Given the description of an element on the screen output the (x, y) to click on. 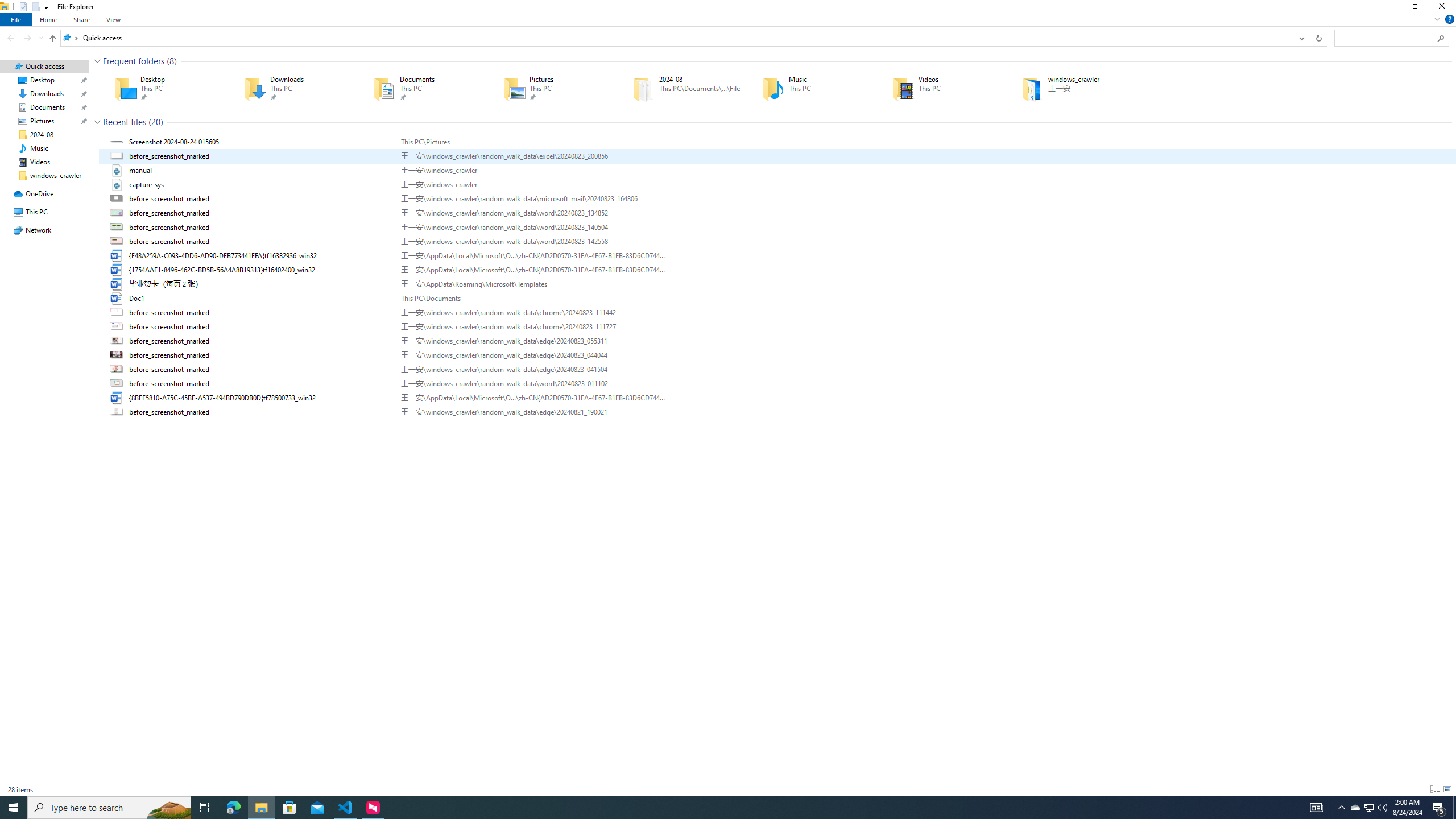
Previous Locations (1301, 37)
Address band toolbar (1309, 37)
Count (155, 121)
Address: Quick access (676, 37)
Large Icons (1447, 789)
Name (261, 411)
Path (532, 411)
Videos (940, 88)
Doc1 (777, 298)
Search Box (1386, 37)
2024-08 (681, 88)
Up band toolbar (52, 39)
Minimize (1388, 8)
